Given the description of an element on the screen output the (x, y) to click on. 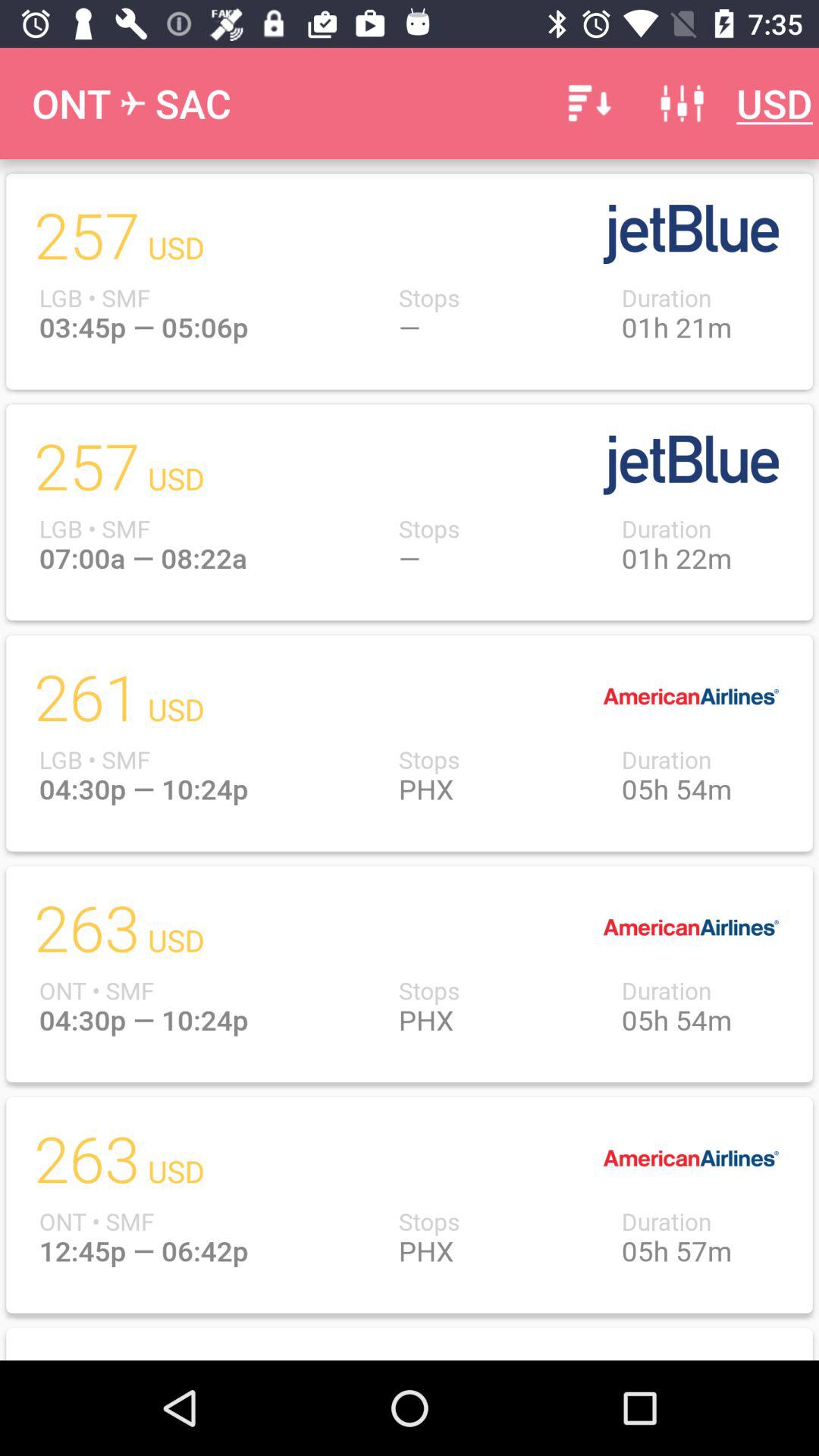
choose the icon to the left of usd item (682, 103)
